Given the description of an element on the screen output the (x, y) to click on. 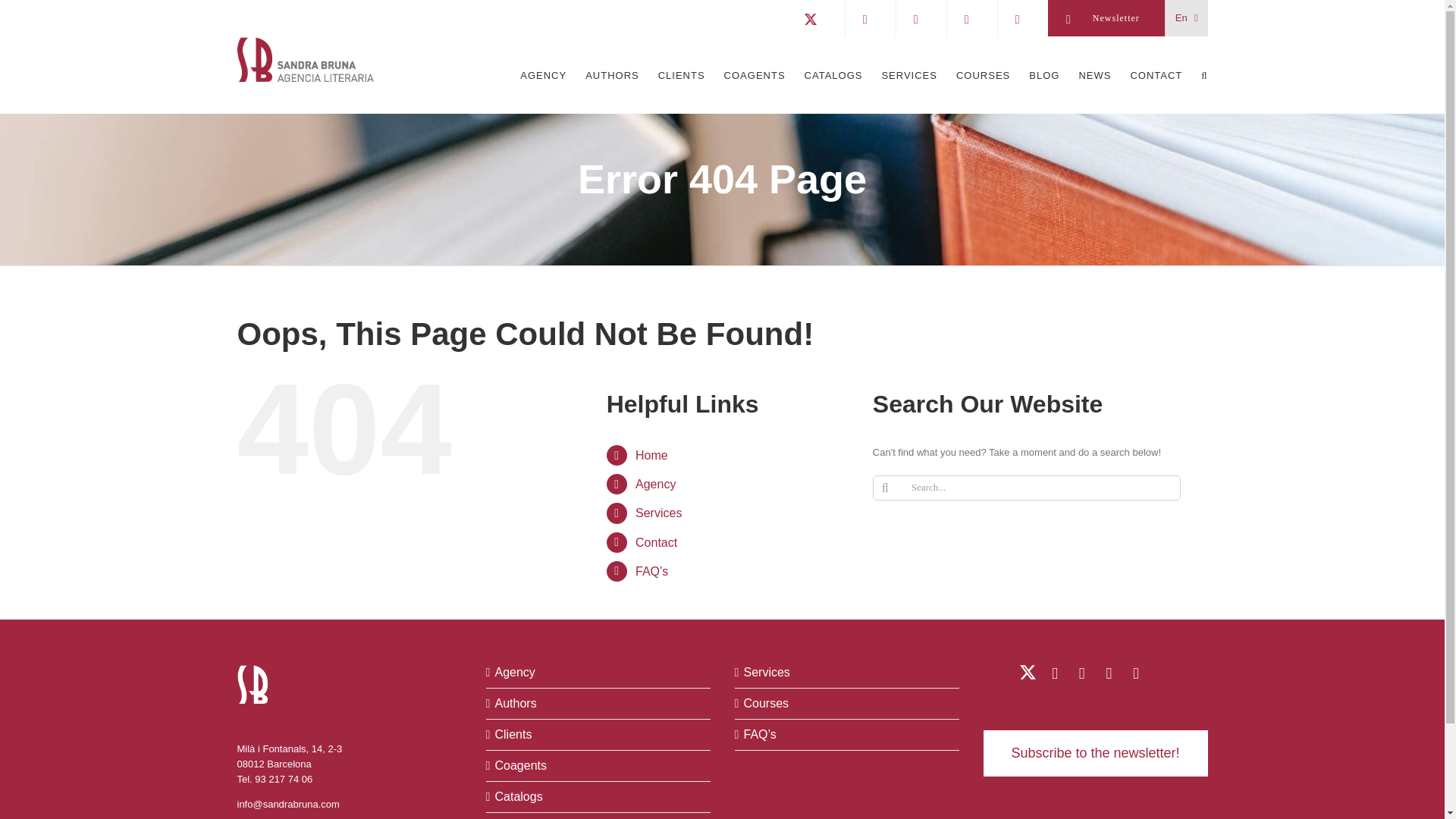
LinkedIn (1054, 673)
En (1187, 18)
Instagram (1134, 673)
Newsletter (1106, 18)
Facebook (1108, 673)
YouTube (1081, 673)
